Given the description of an element on the screen output the (x, y) to click on. 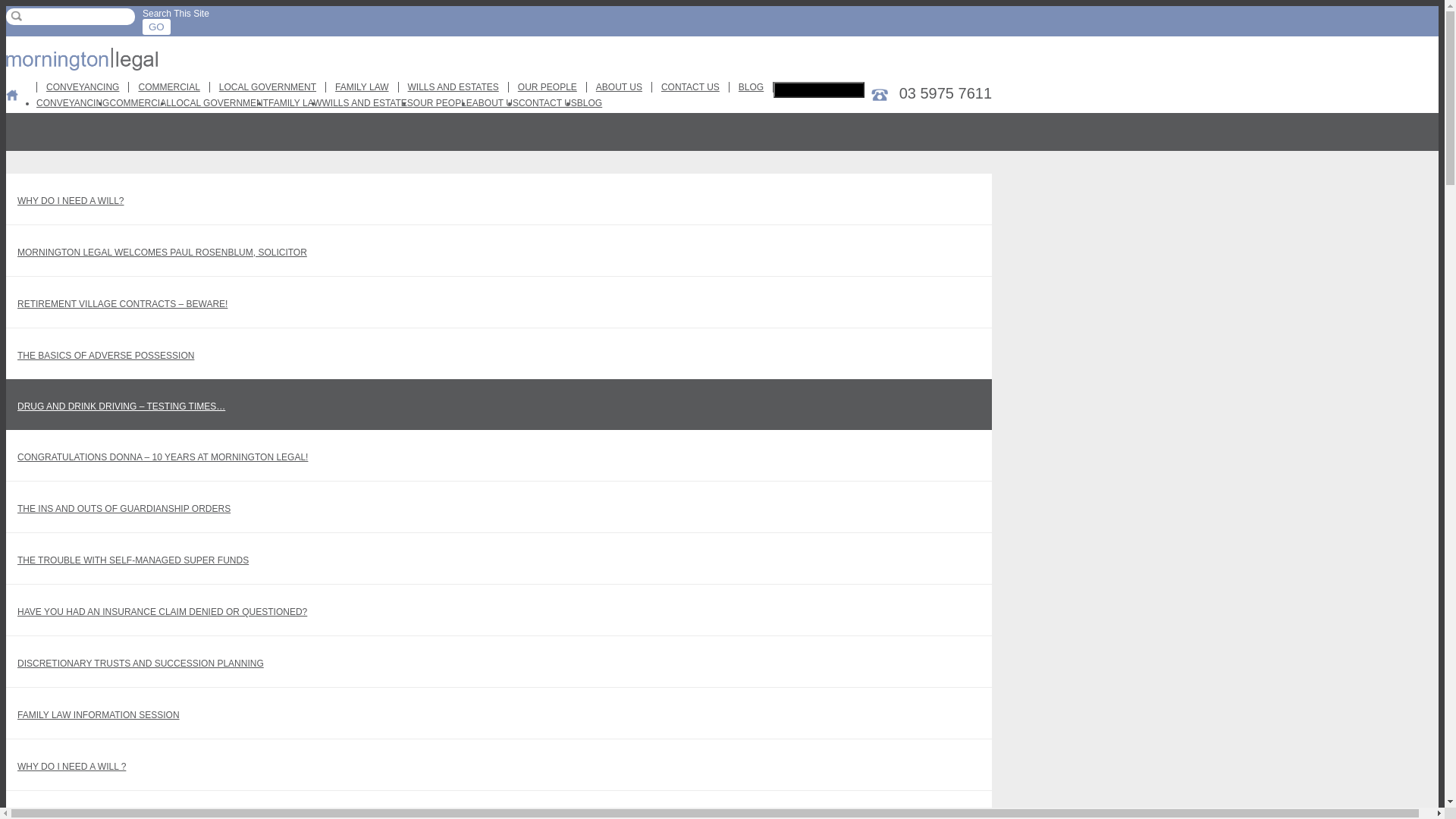
GO Element type: text (156, 26)
THE BASICS OF ADVERSE POSSESSION Element type: text (498, 353)
CONVEYANCING Element type: text (72, 102)
CONVEYANCING Element type: text (82, 86)
CONTACT US Element type: text (547, 102)
WILLS AND ESTATES Element type: text (453, 86)
FAMILY LAW Element type: text (362, 86)
DISCRETIONARY TRUSTS AND SUCCESSION PLANNING Element type: text (498, 661)
FAMILY LAW Element type: text (294, 102)
BLOG Element type: text (751, 86)
OUR PEOPLE Element type: text (547, 86)
LOCAL GOVERNMENT Element type: text (219, 102)
THE INS AND OUTS OF GUARDIANSHIP ORDERS Element type: text (498, 506)
ABOUT US Element type: text (619, 86)
COMMERCIAL Element type: text (168, 86)
03 5975 7611 Element type: text (931, 93)
WHY DO I NEED A WILL? Element type: text (498, 198)
WILLS AND ESTATES Element type: text (367, 102)
OUR PEOPLE Element type: text (442, 102)
CONTACT US Element type: text (690, 86)
COMMERCIAL Element type: text (139, 102)
THE TROUBLE WITH SELF-MANAGED SUPER FUNDS Element type: text (498, 558)
Toggle navigation Element type: text (818, 89)
MORNINGTON LEGAL WELCOMES PAUL ROSENBLUM, SOLICITOR Element type: text (498, 250)
FAMILY LAW INFORMATION SESSION Element type: text (498, 712)
WHY DO I NEED A WILL ? Element type: text (498, 764)
HAVE YOU HAD AN INSURANCE CLAIM DENIED OR QUESTIONED? Element type: text (498, 609)
BLOG Element type: text (589, 102)
LOCAL GOVERNMENT Element type: text (268, 86)
ABOUT US Element type: text (495, 102)
